Given the description of an element on the screen output the (x, y) to click on. 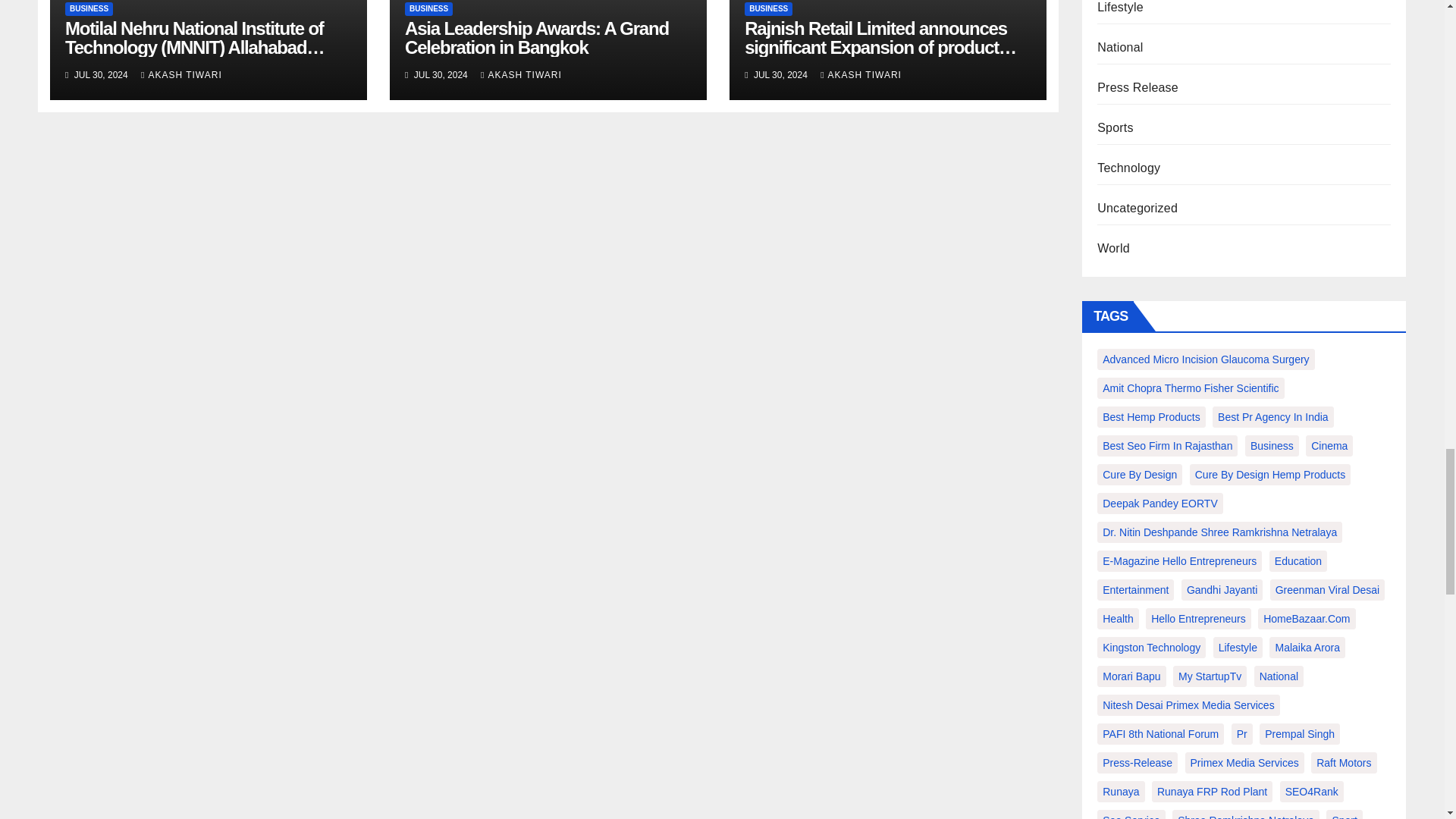
BUSINESS (89, 8)
AKASH TIWARI (181, 74)
